Given the description of an element on the screen output the (x, y) to click on. 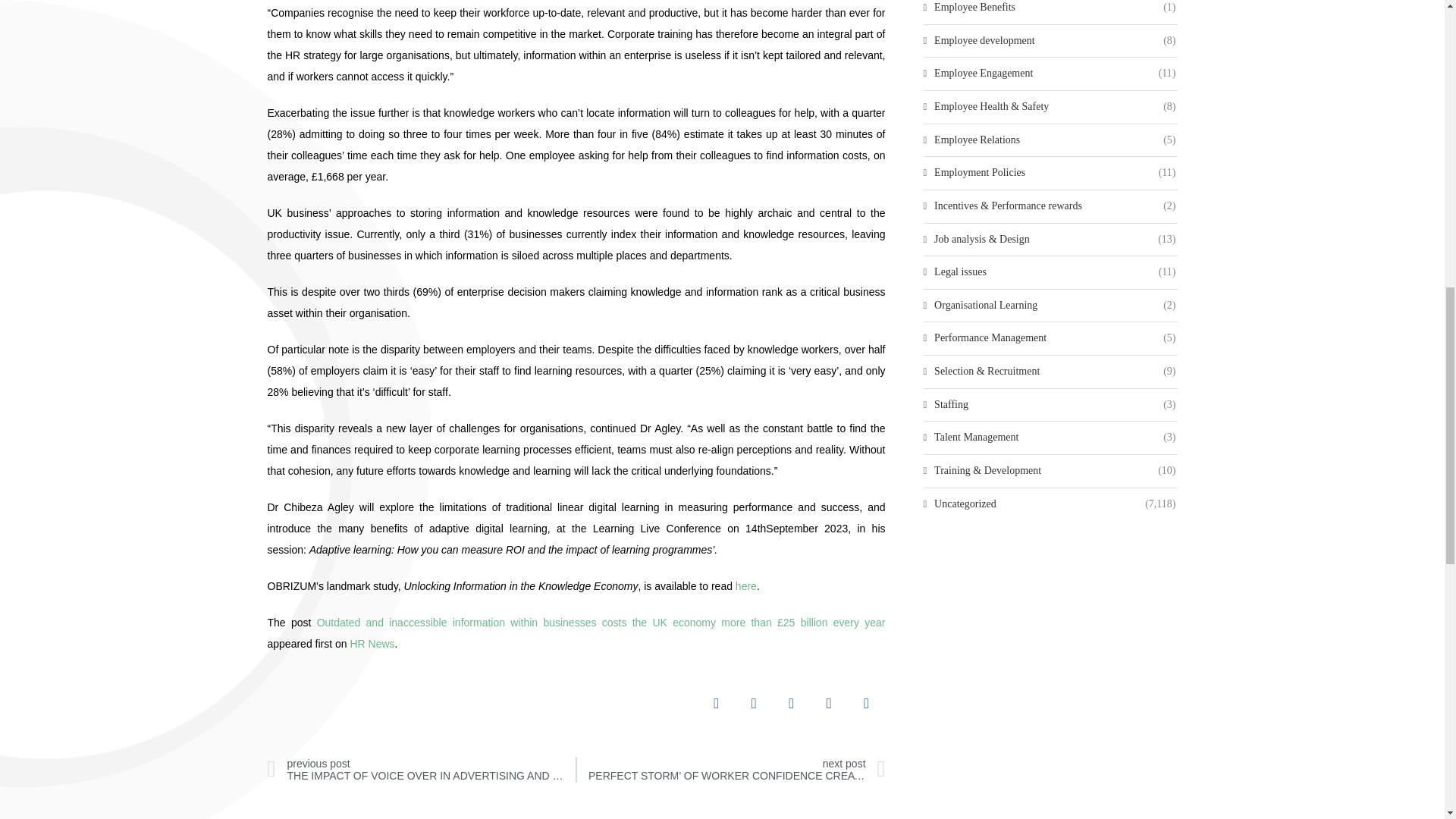
HR News (371, 644)
here (746, 585)
